Given the description of an element on the screen output the (x, y) to click on. 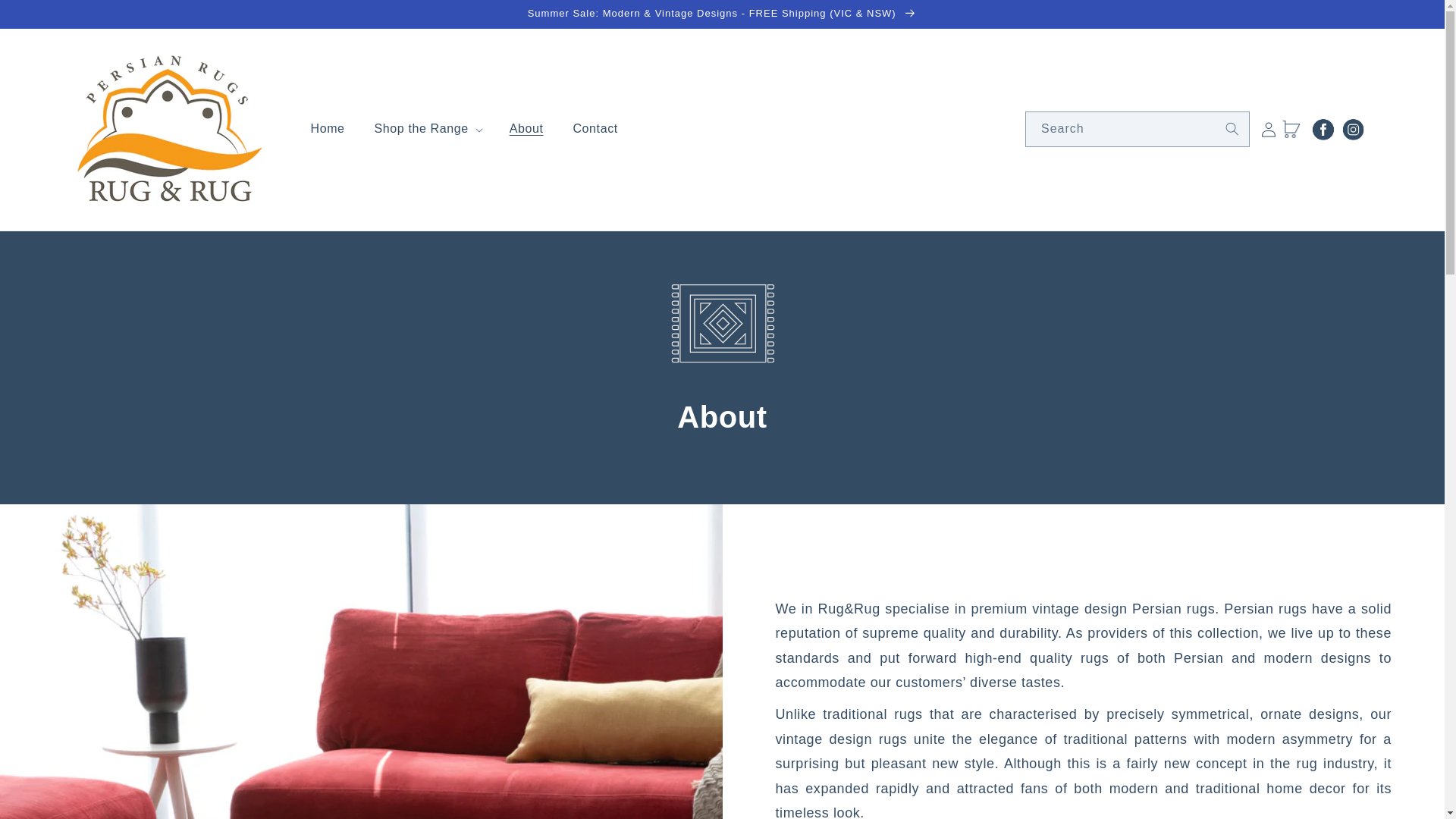
About (526, 129)
Contact (594, 129)
Home (327, 129)
Log in (1268, 129)
Skip to content (45, 17)
Cart (1290, 129)
